Given the description of an element on the screen output the (x, y) to click on. 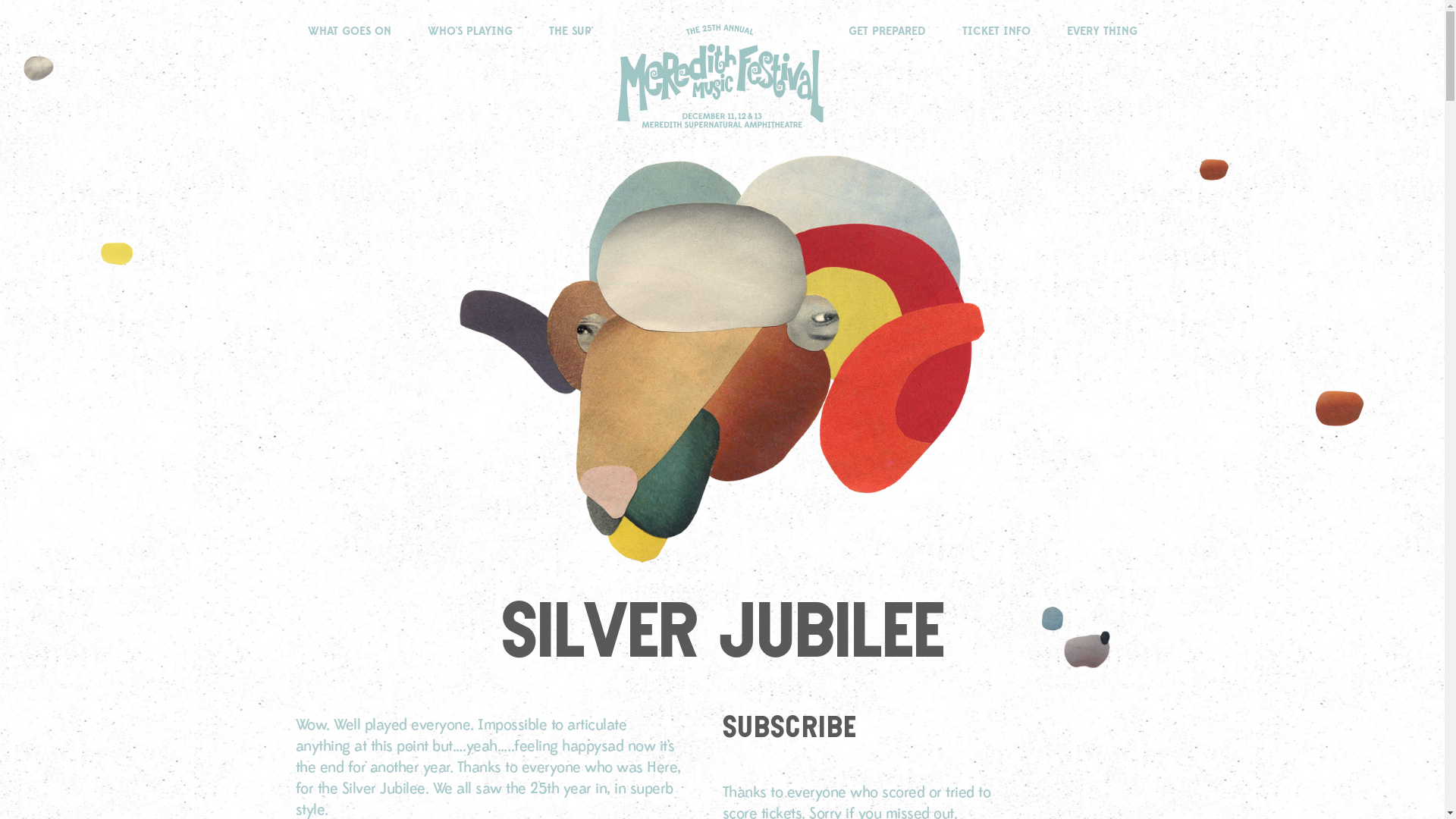
WHO'S PLAYING Element type: text (469, 32)
GET PREPARED Element type: text (886, 32)
EVERY THING Element type: text (1101, 32)
TICKET INFO Element type: text (995, 32)
THE SUP' Element type: text (571, 32)
WHAT GOES ON Element type: text (349, 32)
